Given the description of an element on the screen output the (x, y) to click on. 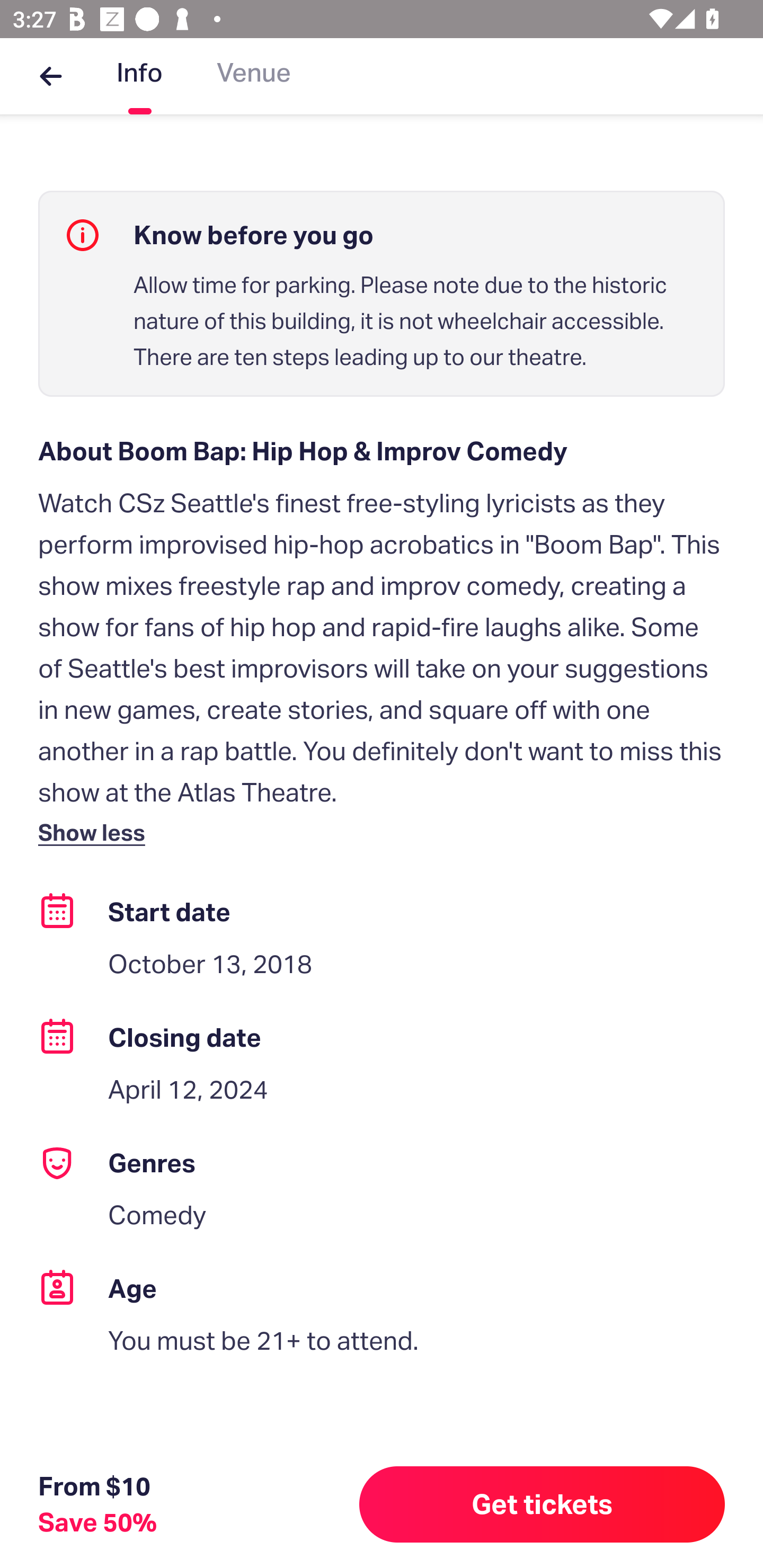
Venue (253, 75)
About Boom Bap: Hip Hop & Improv Comedy (381, 450)
Show less (95, 831)
Get tickets (541, 1504)
